Given the description of an element on the screen output the (x, y) to click on. 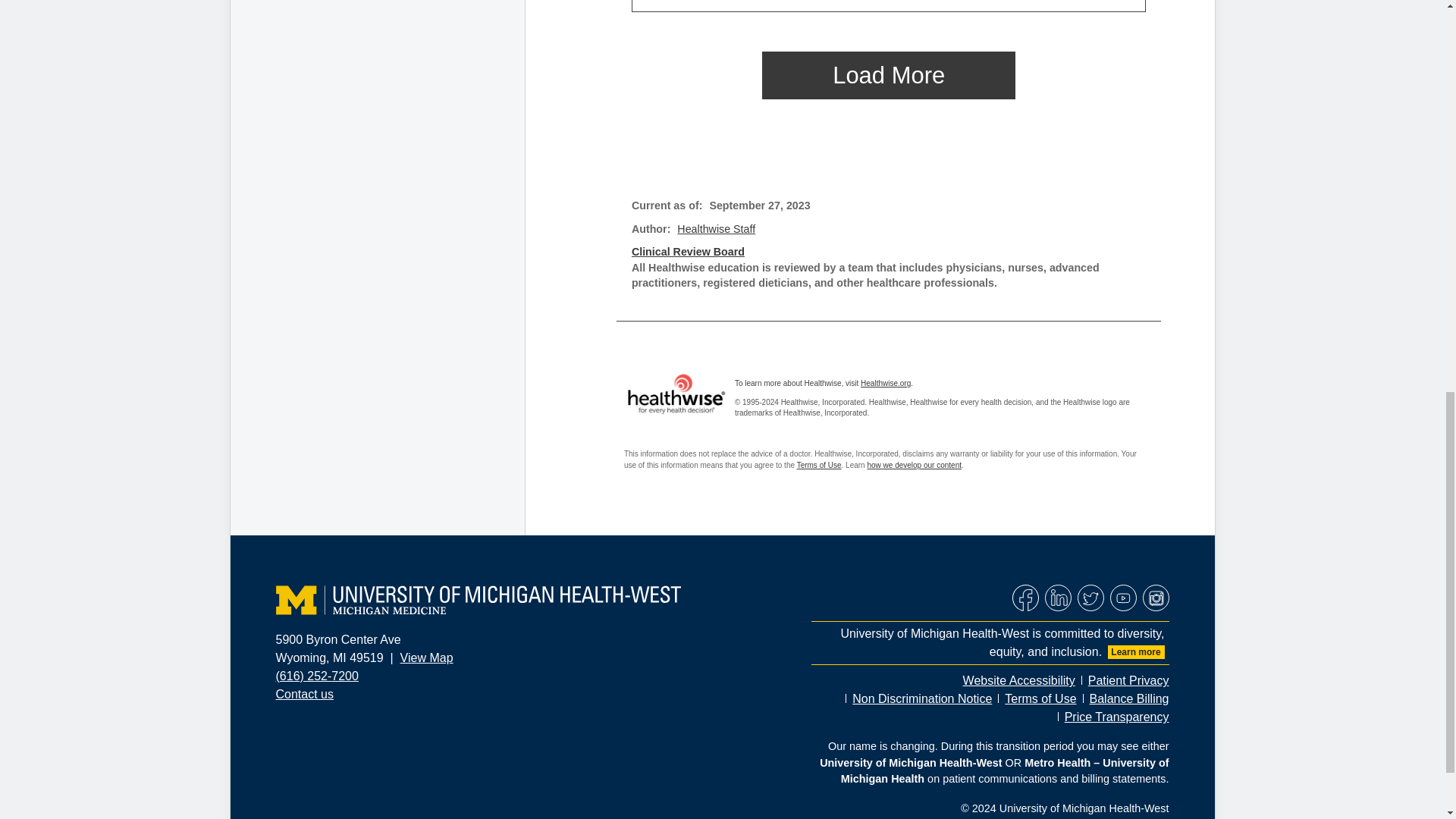
University of Michigan Health-West (478, 599)
